Given the description of an element on the screen output the (x, y) to click on. 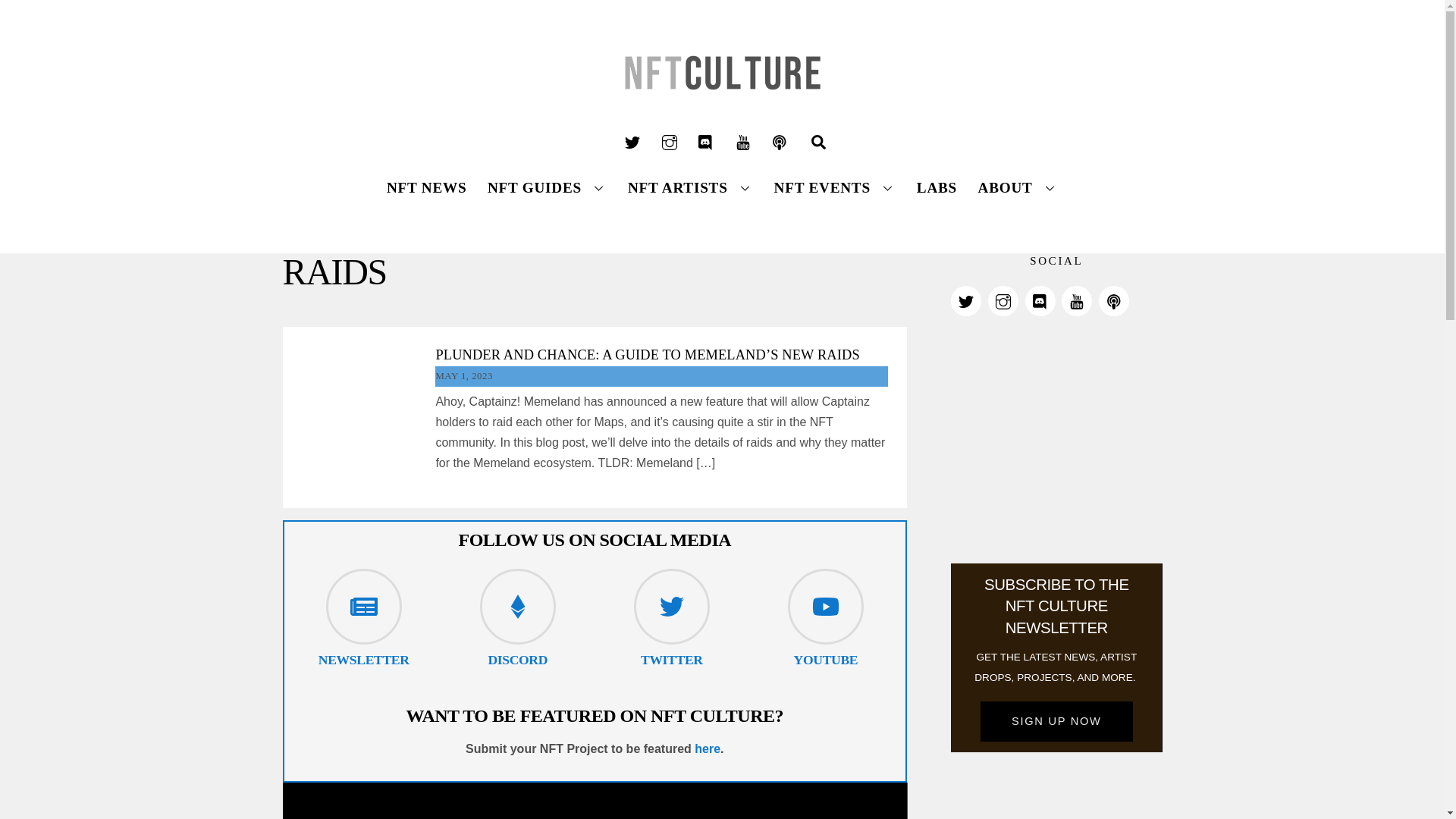
NFT GUIDES (547, 187)
TWITTER (671, 659)
ABOUT (1018, 187)
YOUTUBE (826, 659)
LABS (936, 187)
NFT CULTURE (722, 103)
DISCORD (517, 659)
NFT ARTISTS (689, 187)
NEWSLETTER (363, 659)
NFT EVENTS (834, 187)
NFT NEWS (426, 187)
here (707, 748)
Search (721, 177)
